Given the description of an element on the screen output the (x, y) to click on. 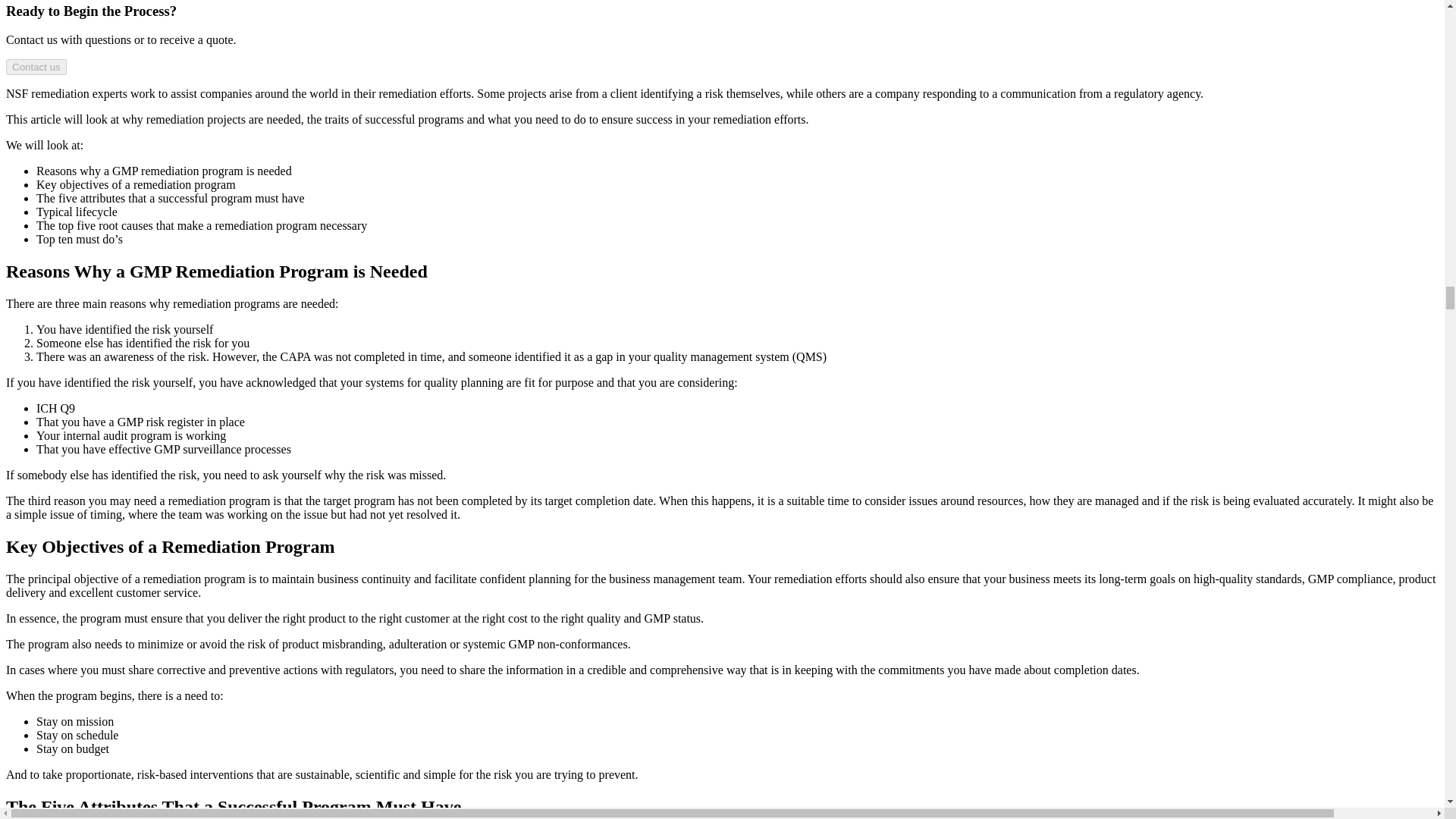
Contact us (35, 66)
